Given the description of an element on the screen output the (x, y) to click on. 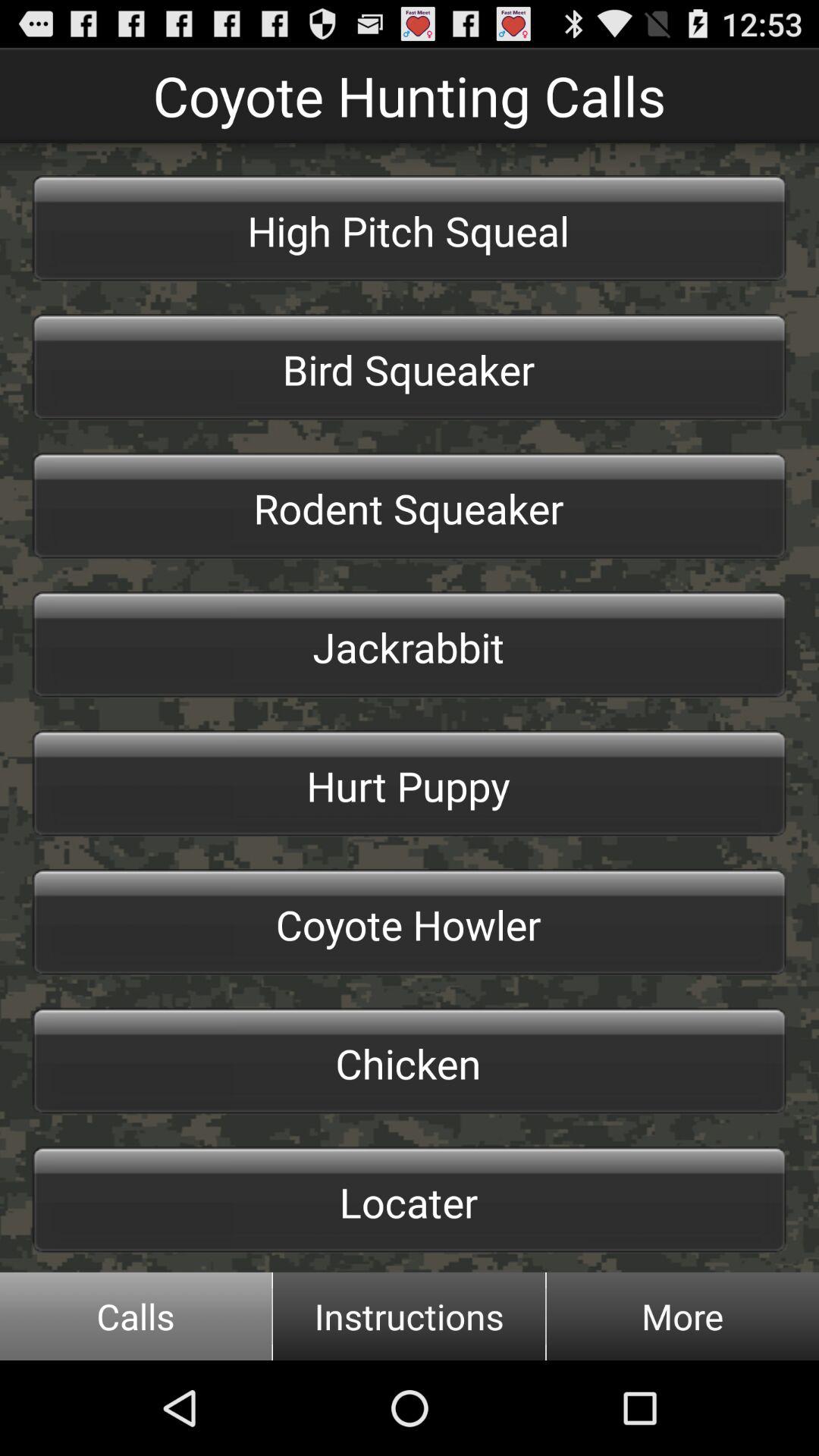
open icon above chicken item (409, 922)
